Given the description of an element on the screen output the (x, y) to click on. 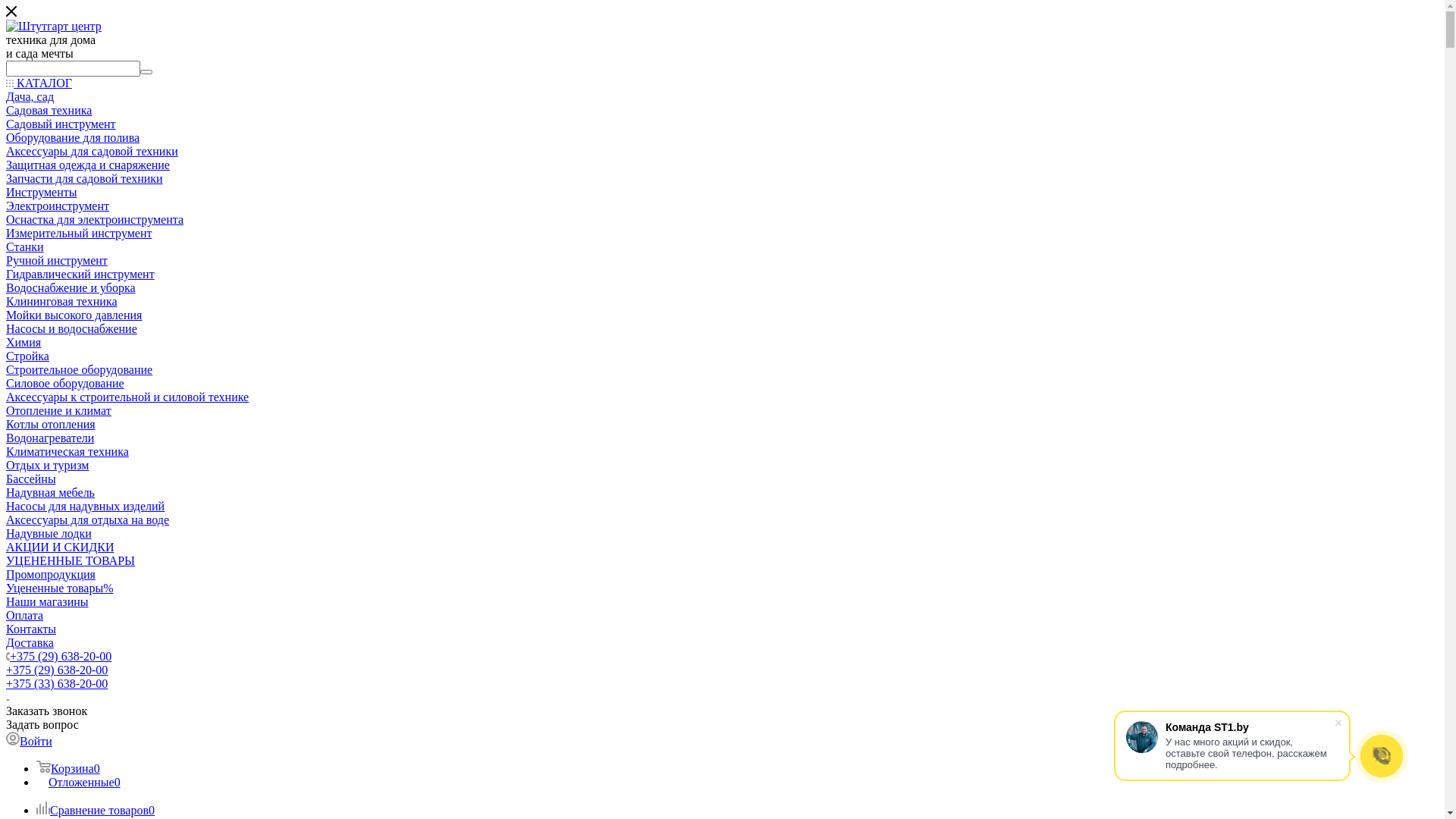
+375 (29) 638-20-00 Element type: text (60, 655)
+375 (33) 638-20-00 Element type: text (56, 683)
+375 (29) 638-20-00 Element type: text (56, 669)
